Given the description of an element on the screen output the (x, y) to click on. 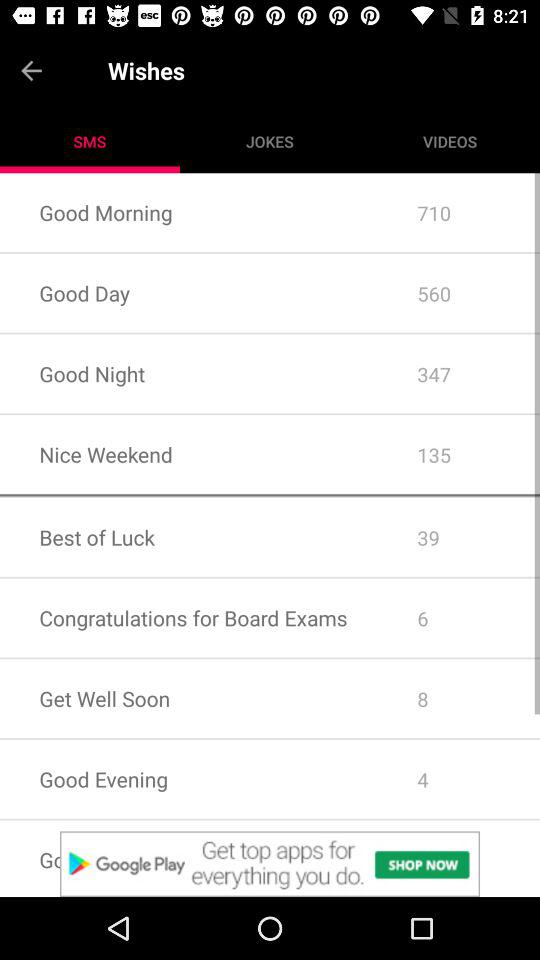
tap congratulations for board icon (188, 617)
